Given the description of an element on the screen output the (x, y) to click on. 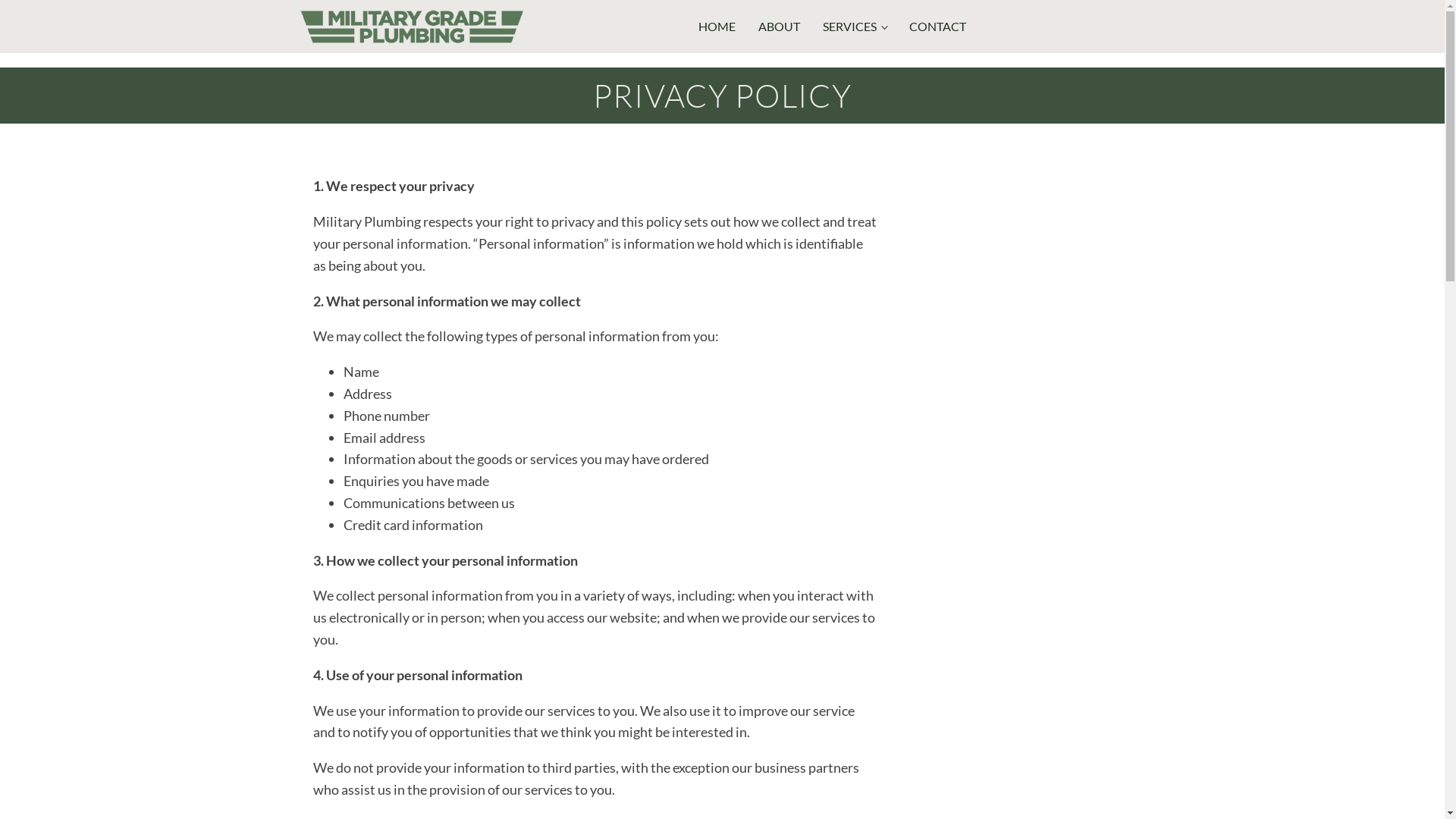
ABOUT Element type: text (782, 26)
CONTACT Element type: text (941, 26)
HOME Element type: text (720, 26)
SERVICES Element type: text (858, 26)
